Given the description of an element on the screen output the (x, y) to click on. 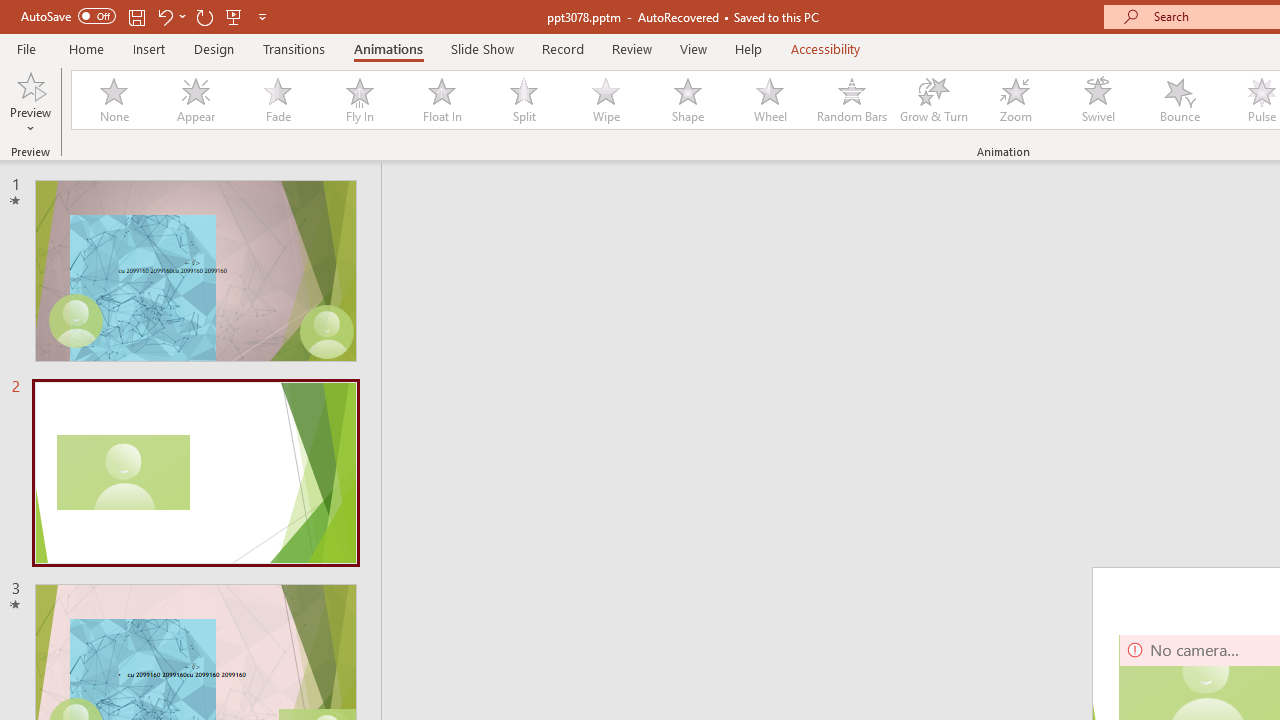
Accessibility (825, 48)
Insert (149, 48)
View (693, 48)
Animations (388, 48)
File Tab (26, 48)
Swivel (1098, 100)
Quick Access Toolbar (145, 16)
